Given the description of an element on the screen output the (x, y) to click on. 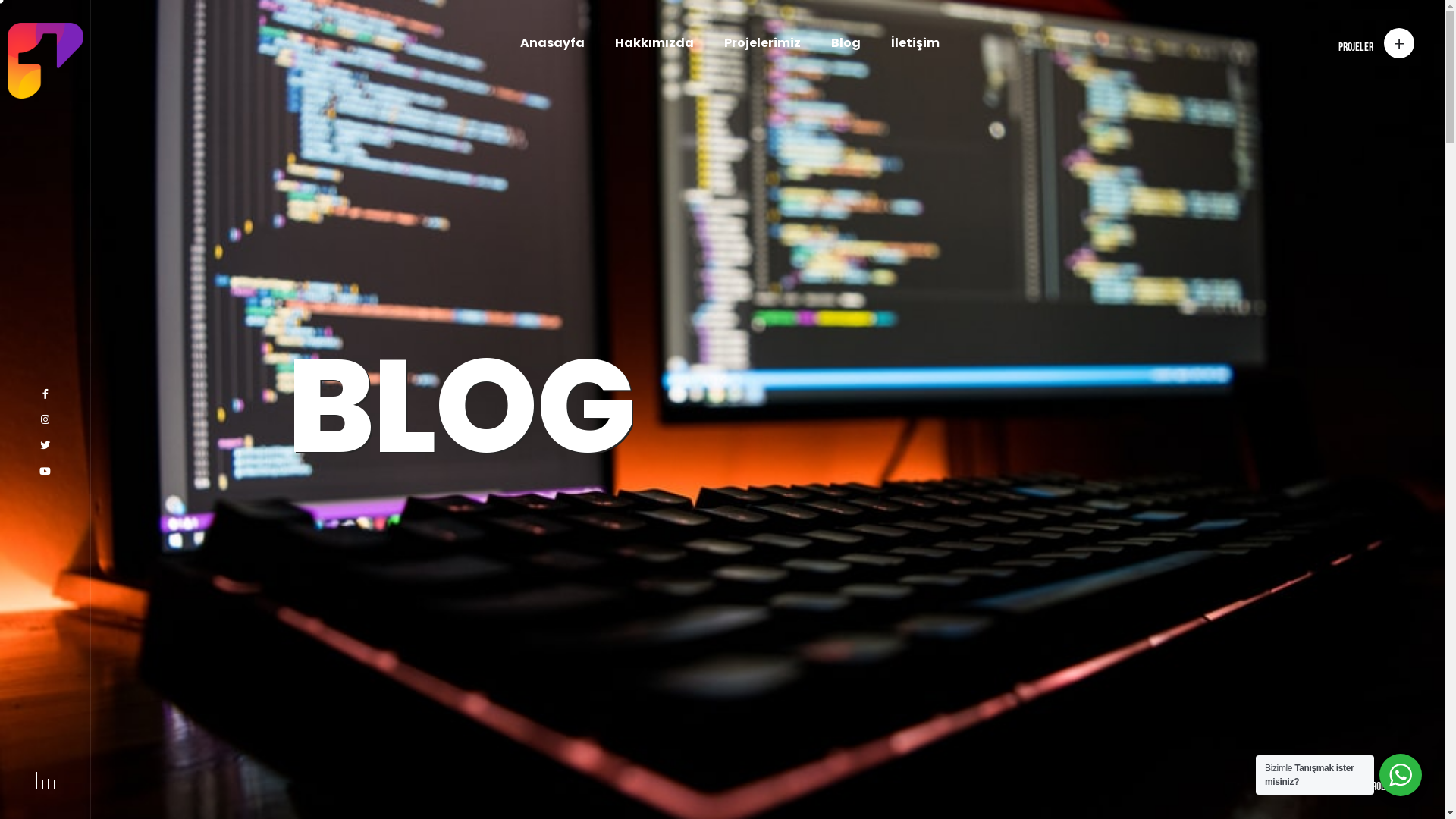
Projelerimiz Element type: text (762, 43)
1CONN Element type: text (1202, 772)
Anasayfa Element type: text (552, 43)
Blog Element type: text (845, 43)
fab fa-instagram Element type: hover (44, 419)
fab fa-facebook-f Element type: hover (45, 393)
fab fa-twitter Element type: hover (45, 445)
fab fa-youtube Element type: hover (44, 471)
info@1conn.com Element type: text (952, 665)
SCROLL DOWN Element type: text (1388, 786)
